Given the description of an element on the screen output the (x, y) to click on. 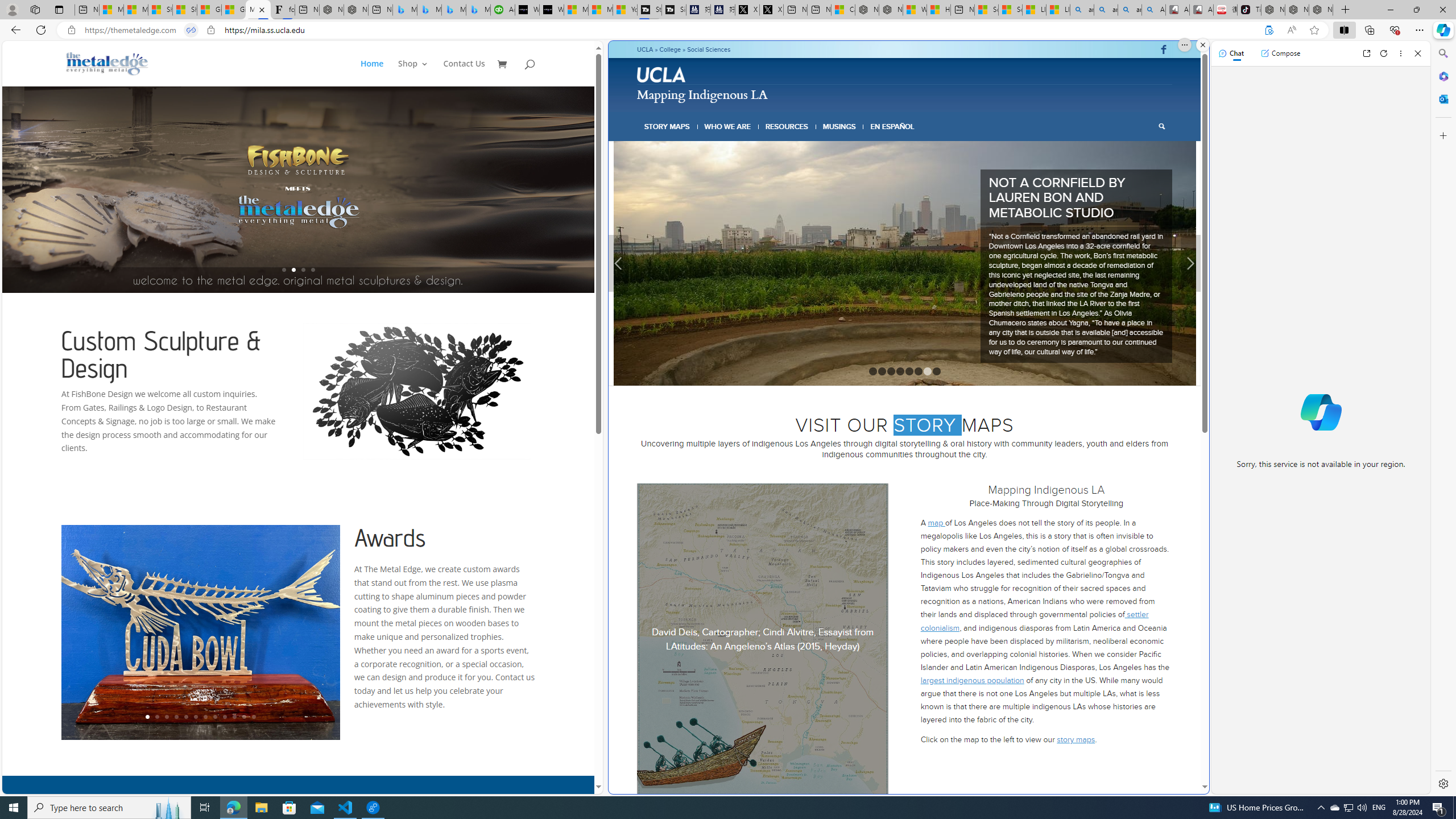
 settler colonialism (1034, 571)
WHO WE ARE (727, 126)
Mapping Indigenous LA (702, 93)
Settings (1442, 783)
9 (224, 716)
Outlook (1442, 98)
Shop3 (419, 72)
amazon - Search Images (1129, 9)
